Given the description of an element on the screen output the (x, y) to click on. 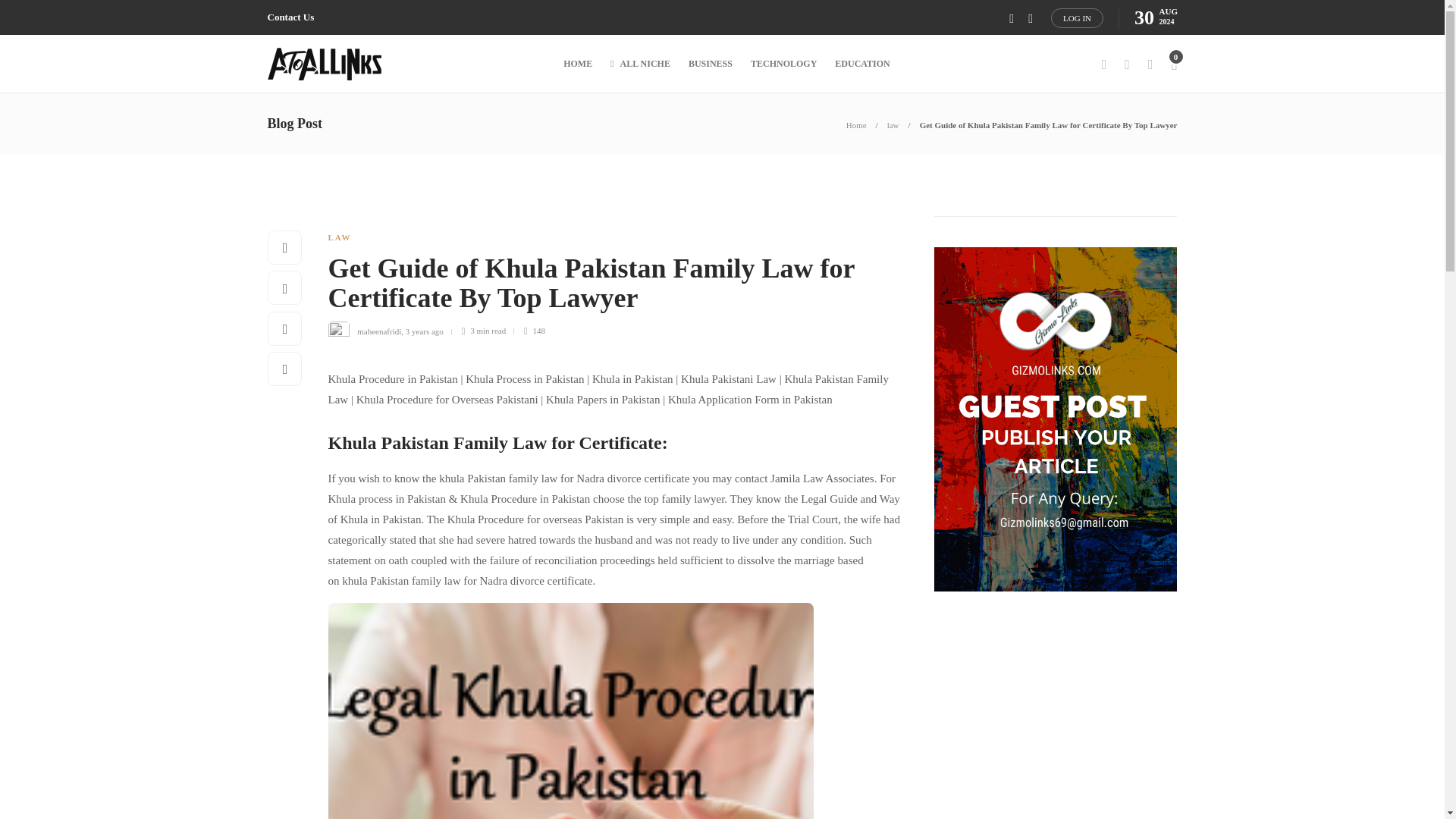
LAW (338, 236)
Contact Us (290, 17)
Home (855, 124)
law (892, 124)
TECHNOLOGY (783, 63)
ALL NICHE (639, 63)
Home (855, 124)
3 years ago (425, 329)
LOG IN (1077, 17)
